Given the description of an element on the screen output the (x, y) to click on. 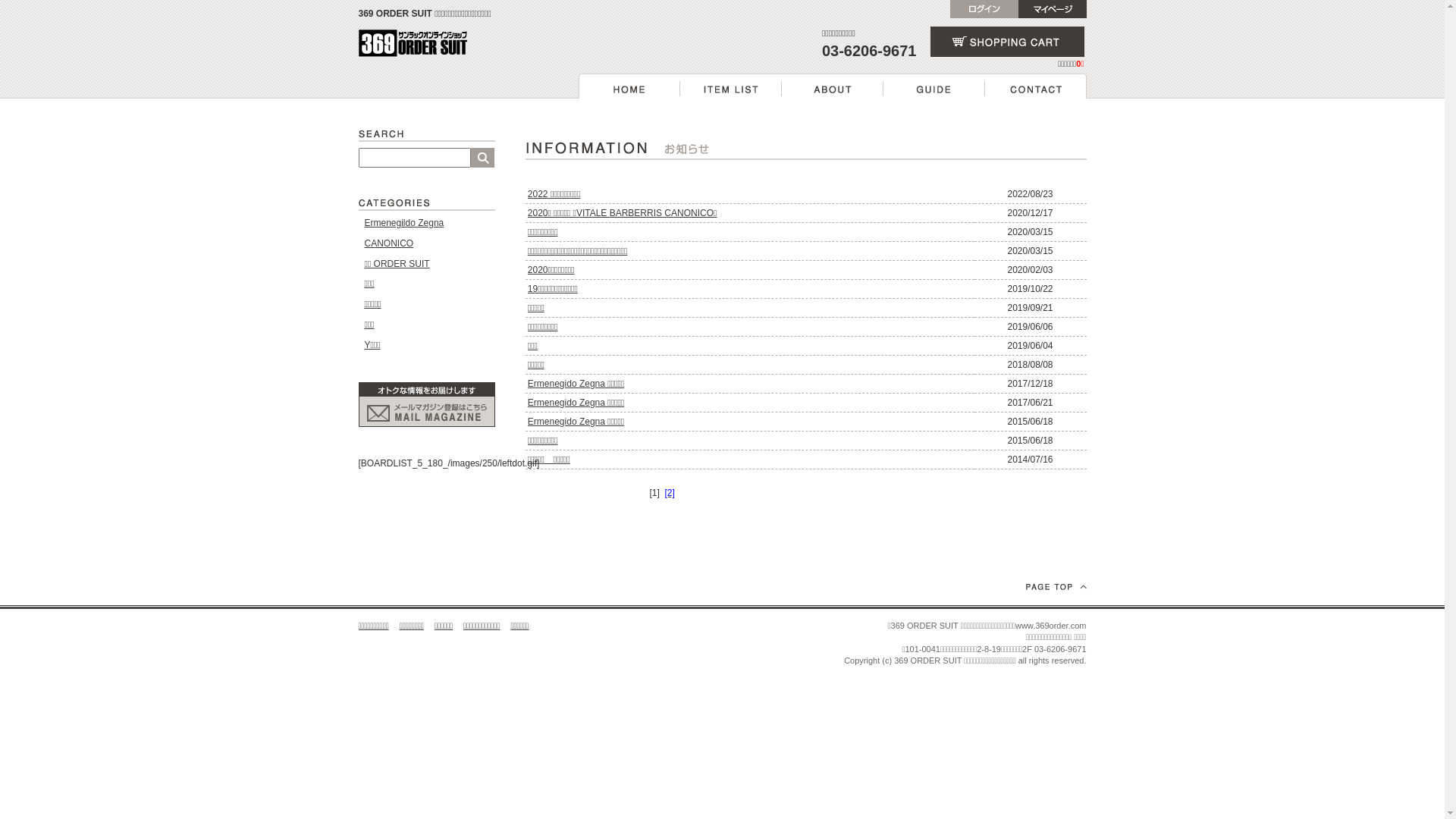
CANONICO Element type: text (388, 243)
[2] Element type: text (669, 492)
Ermenegildo Zegna Element type: text (403, 222)
